Given the description of an element on the screen output the (x, y) to click on. 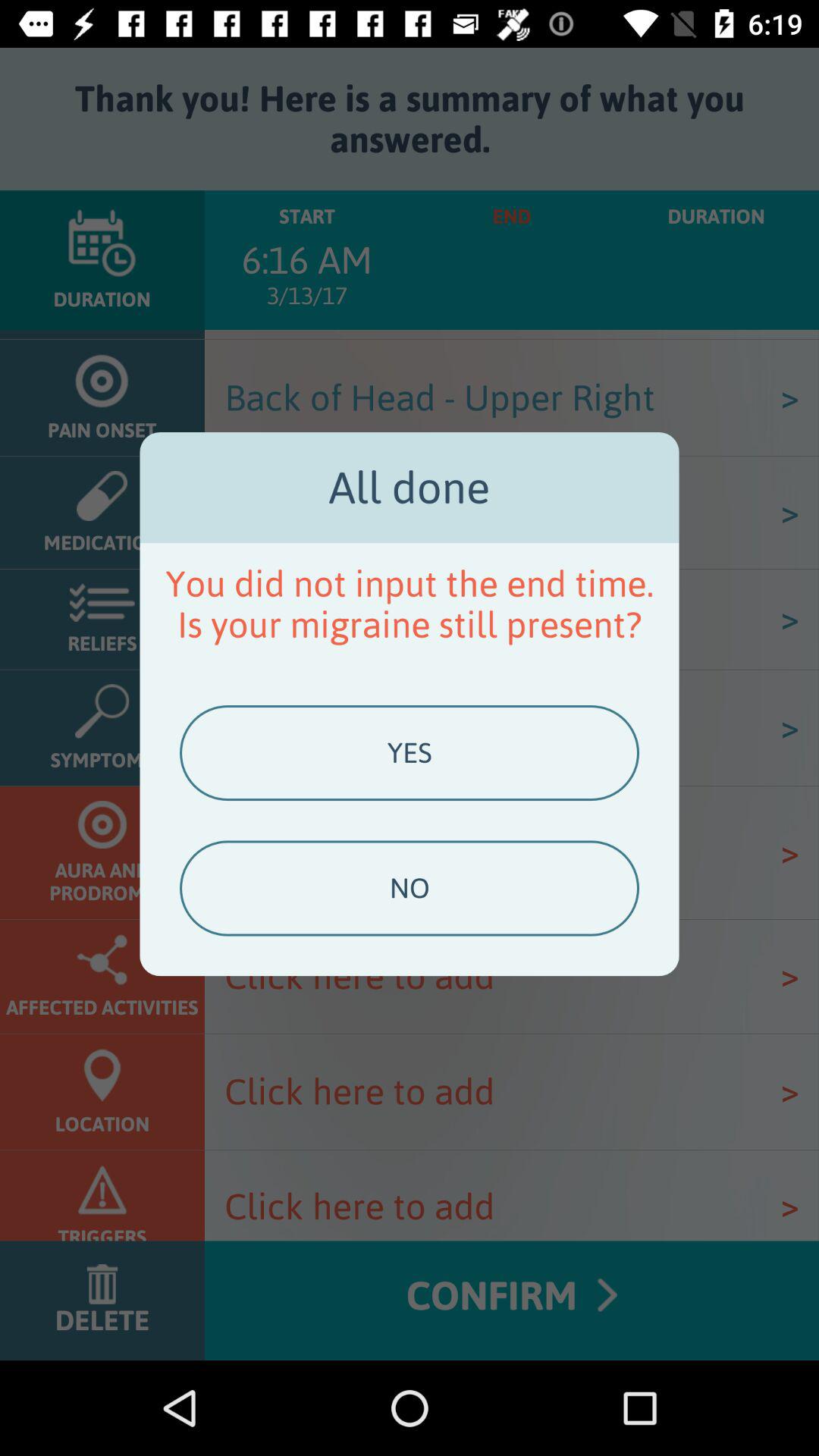
tap app below the all done app (409, 604)
